Given the description of an element on the screen output the (x, y) to click on. 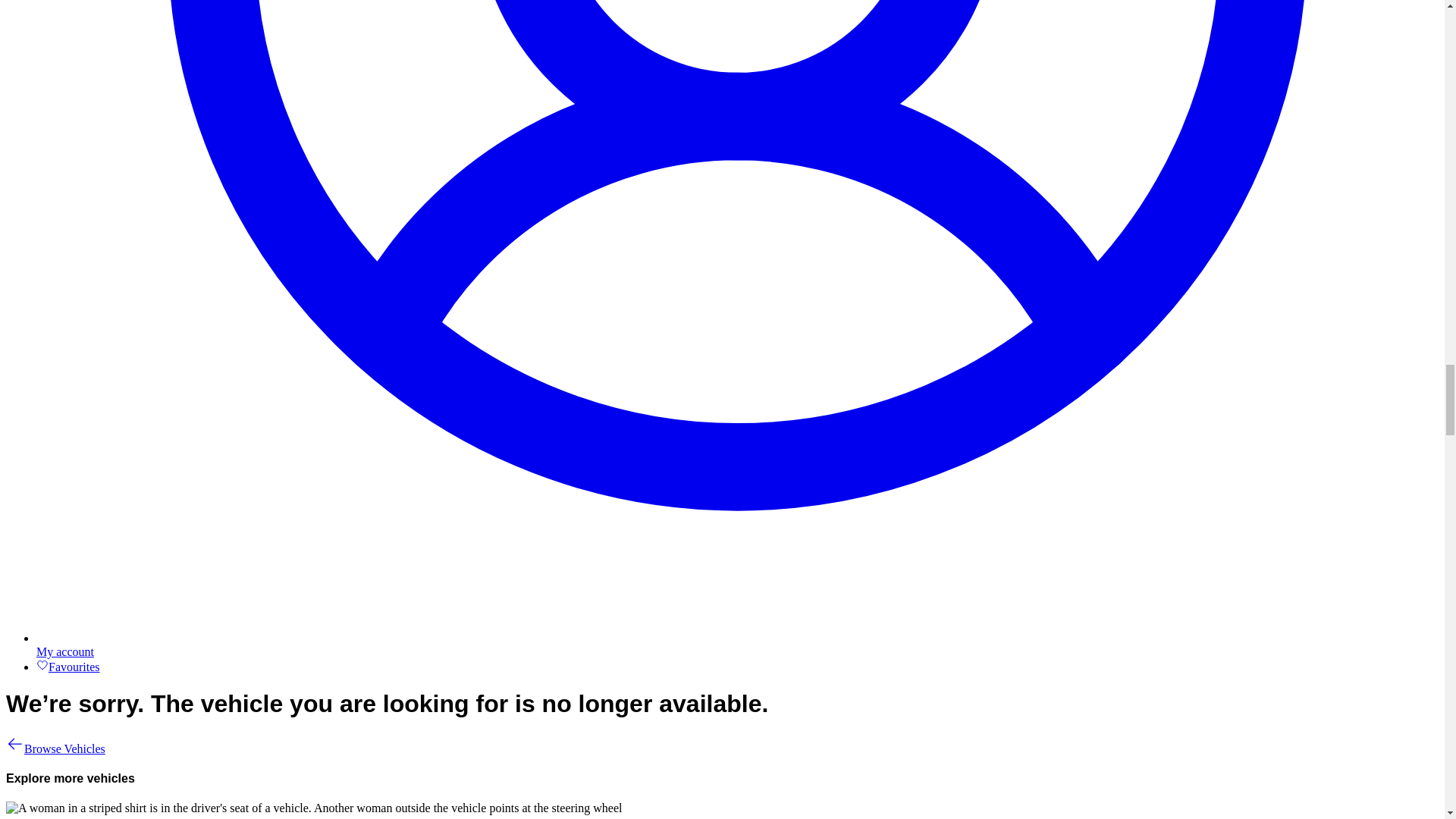
Favourites (68, 666)
